Given the description of an element on the screen output the (x, y) to click on. 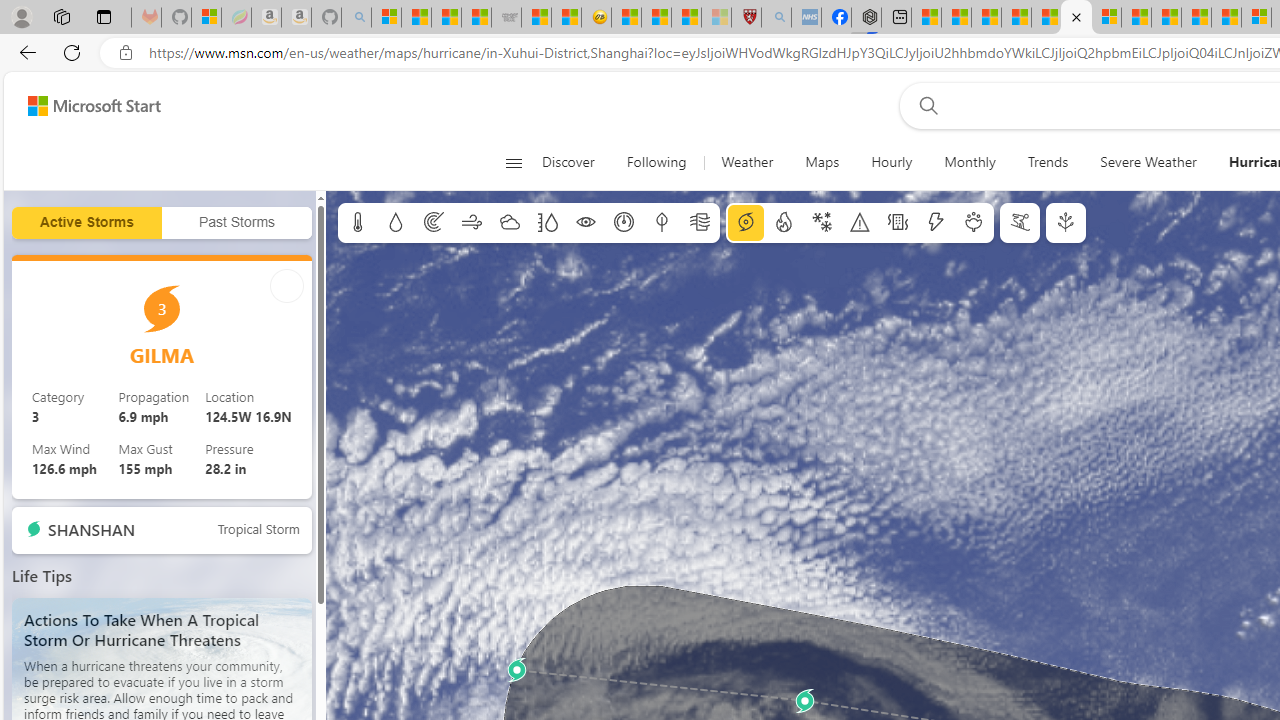
SHANSHAN Tropical Storm (161, 529)
Severe weather (860, 223)
Maps (822, 162)
Maps (822, 162)
Temperature (358, 223)
Wind (472, 223)
Monthly (969, 162)
Severe Weather (1148, 162)
